Given the description of an element on the screen output the (x, y) to click on. 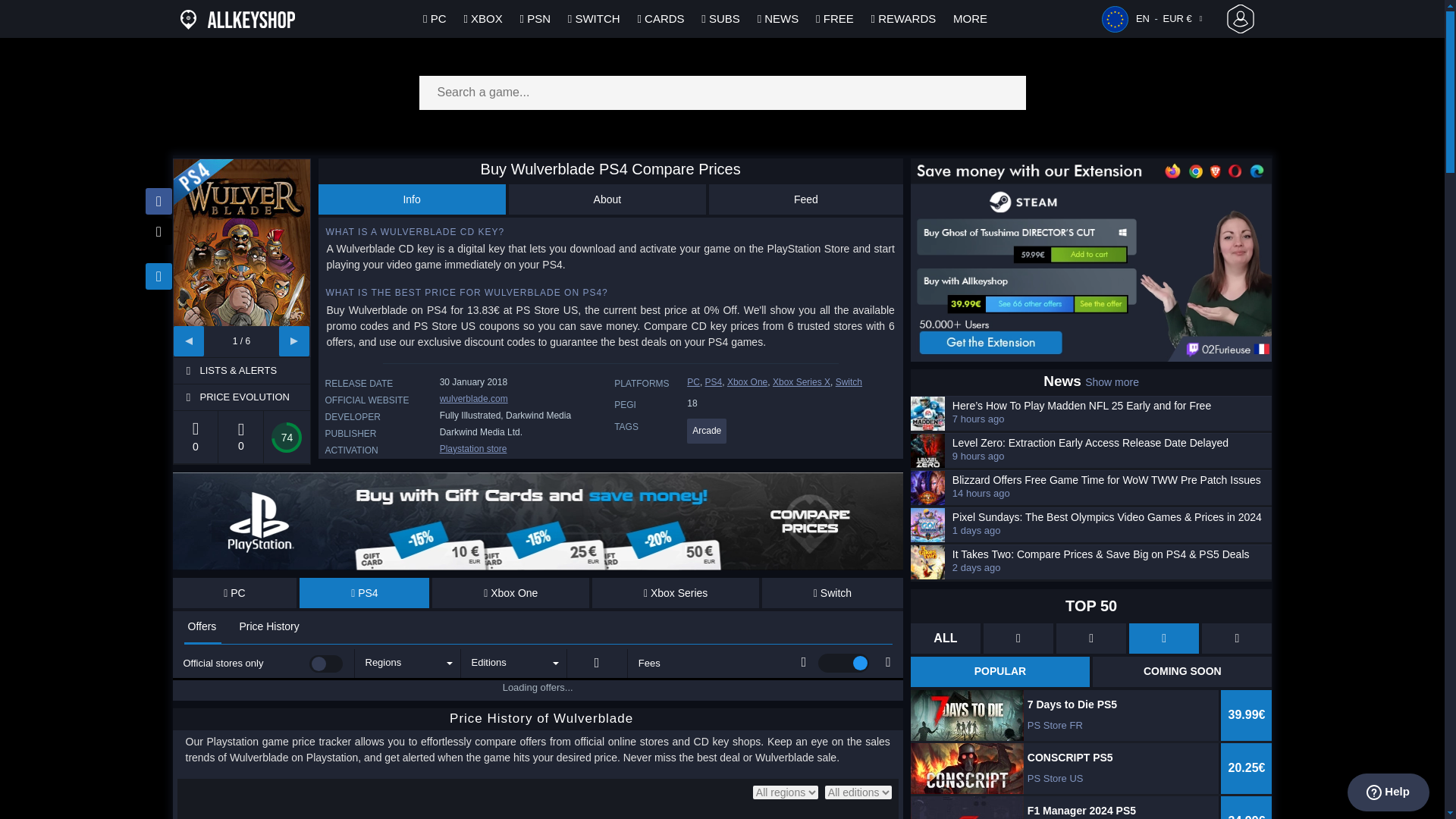
SWITCH (594, 18)
Playstation store keys (472, 448)
XBOX (482, 18)
PSN (535, 18)
 PC (235, 593)
Price evolution (252, 396)
